Given the description of an element on the screen output the (x, y) to click on. 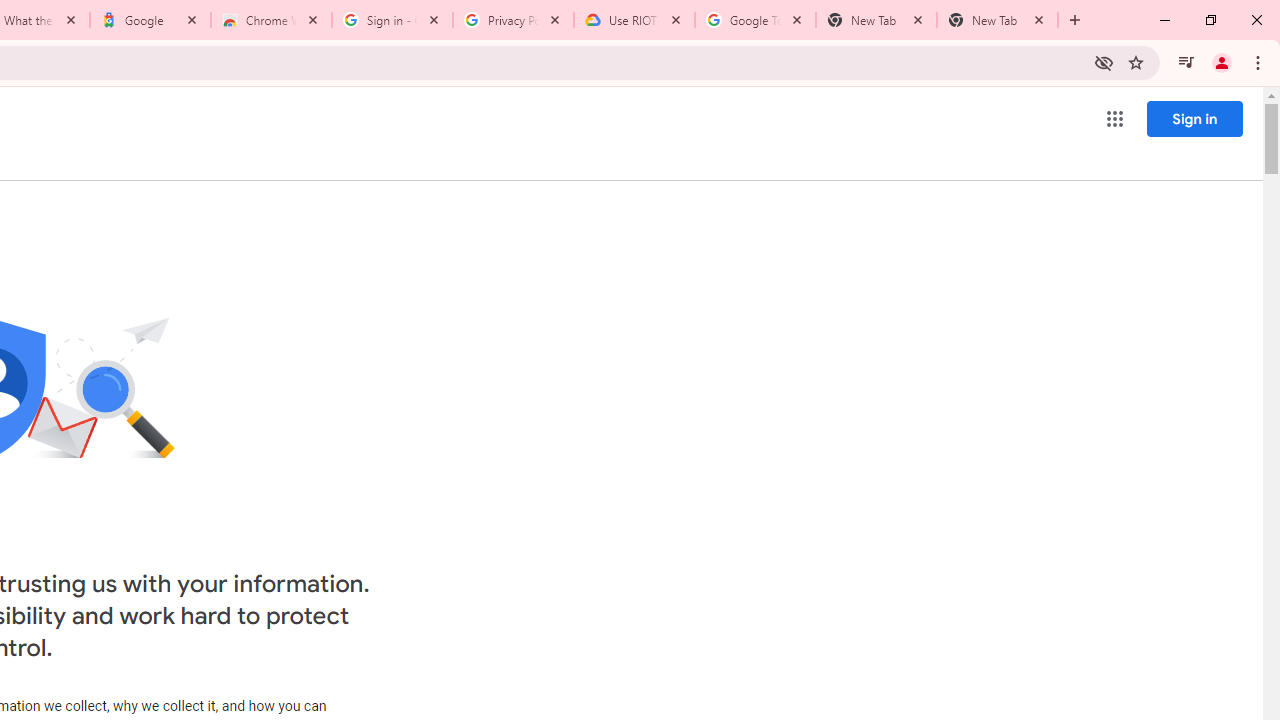
Sign in - Google Accounts (392, 20)
